Given the description of an element on the screen output the (x, y) to click on. 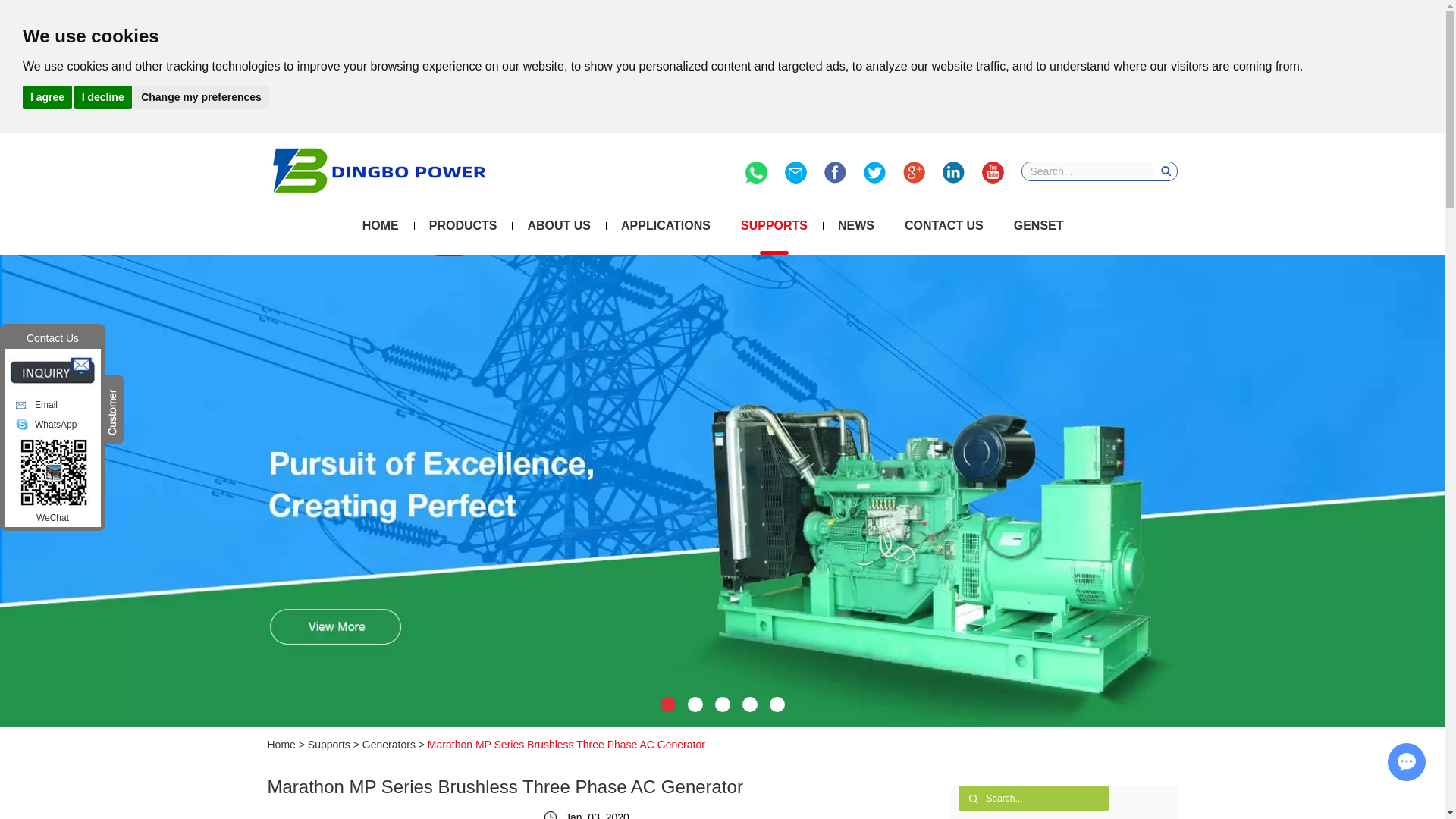
I decline (103, 96)
PRODUCTS (463, 226)
Change my preferences (201, 96)
I agree (47, 96)
Guangxi Dingbo Generator Set Manufacturing Co., Ltd. (378, 169)
